Given the description of an element on the screen output the (x, y) to click on. 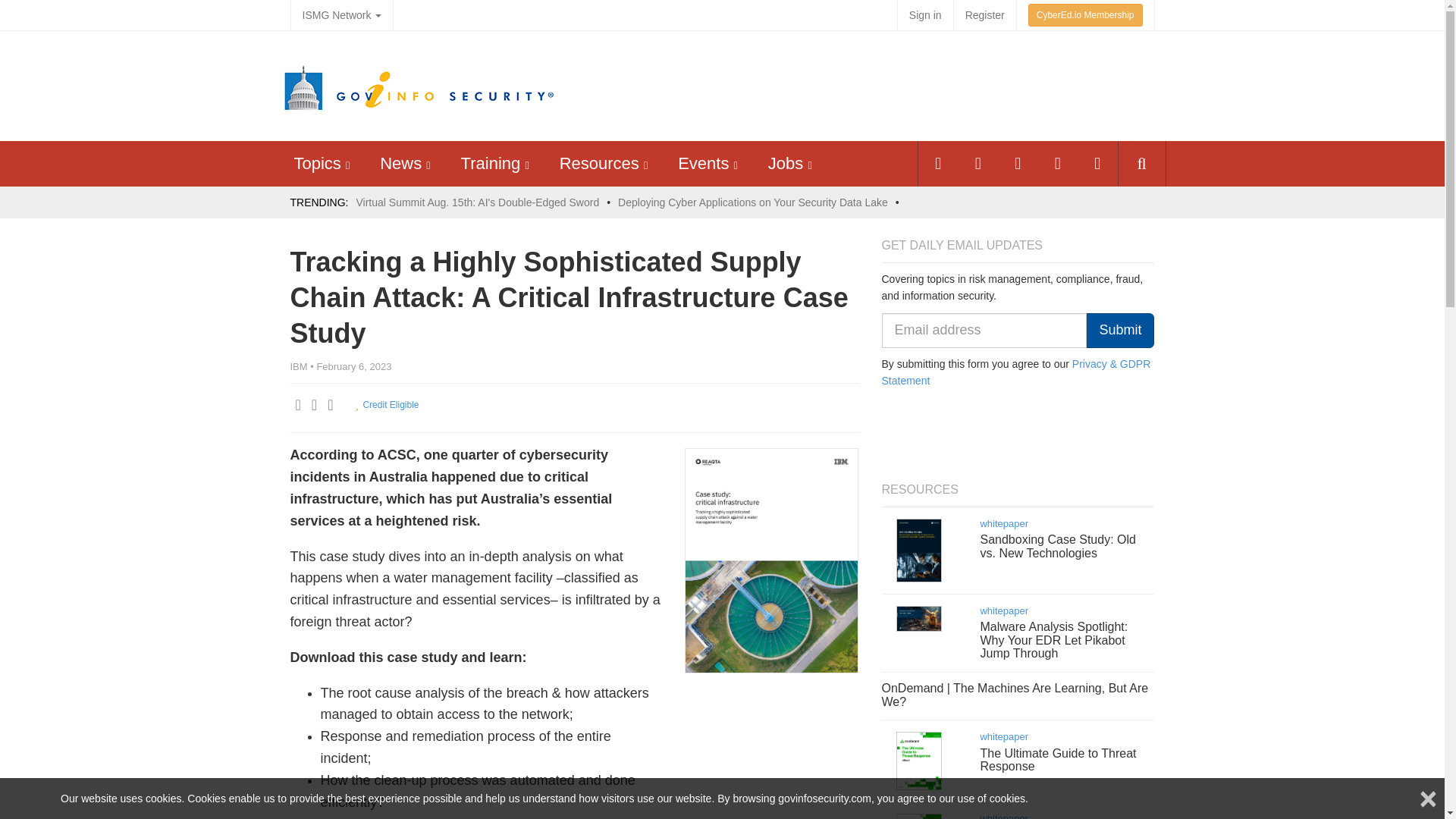
Topics (317, 162)
ISMG Network (341, 15)
Sign in (925, 15)
Register (984, 15)
CyberEd.io Membership (1084, 15)
